Given the description of an element on the screen output the (x, y) to click on. 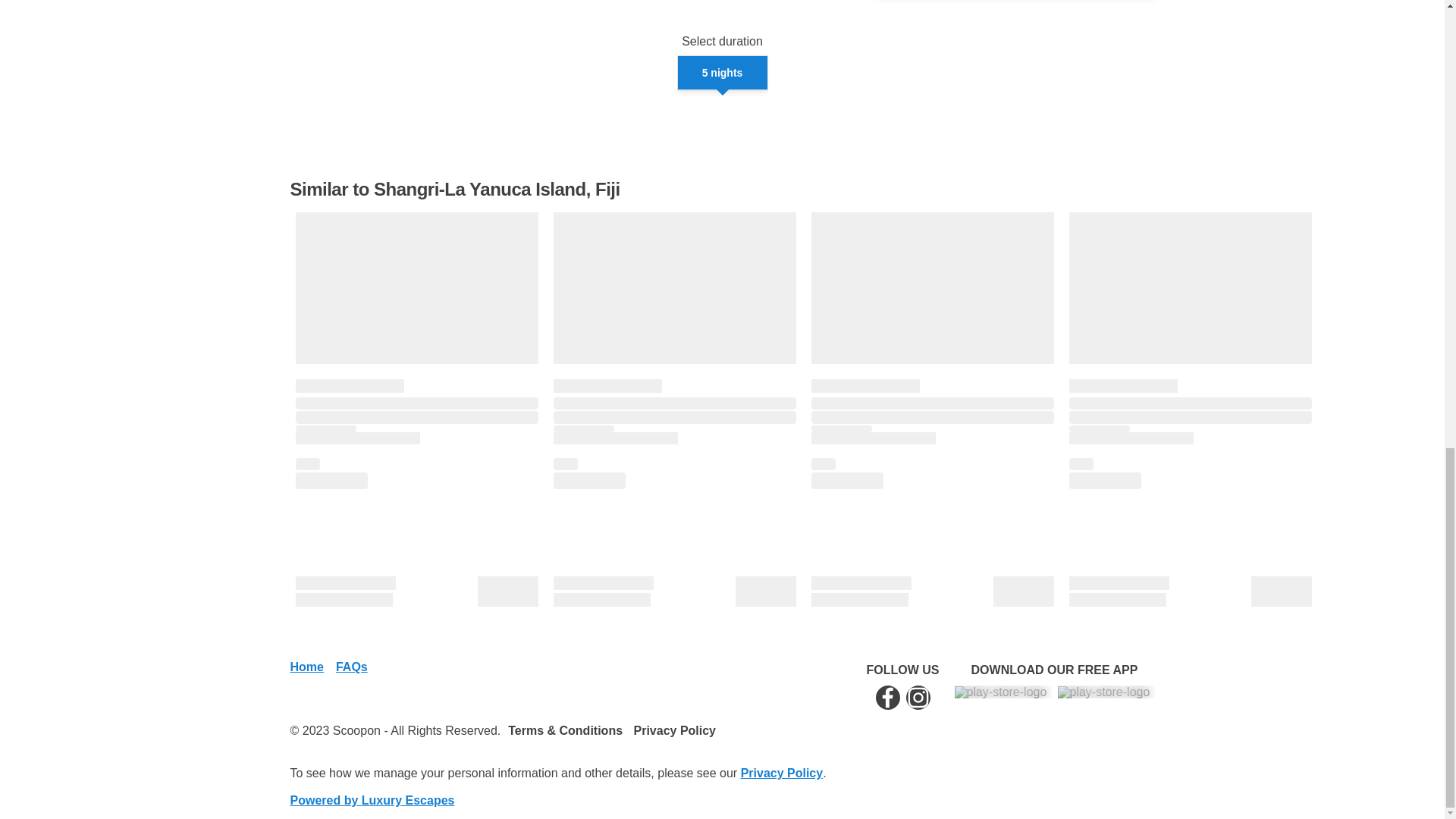
Privacy Policy (671, 730)
Privacy Policy (782, 772)
FAQs (352, 666)
5 nights (722, 72)
Home (306, 666)
